Given the description of an element on the screen output the (x, y) to click on. 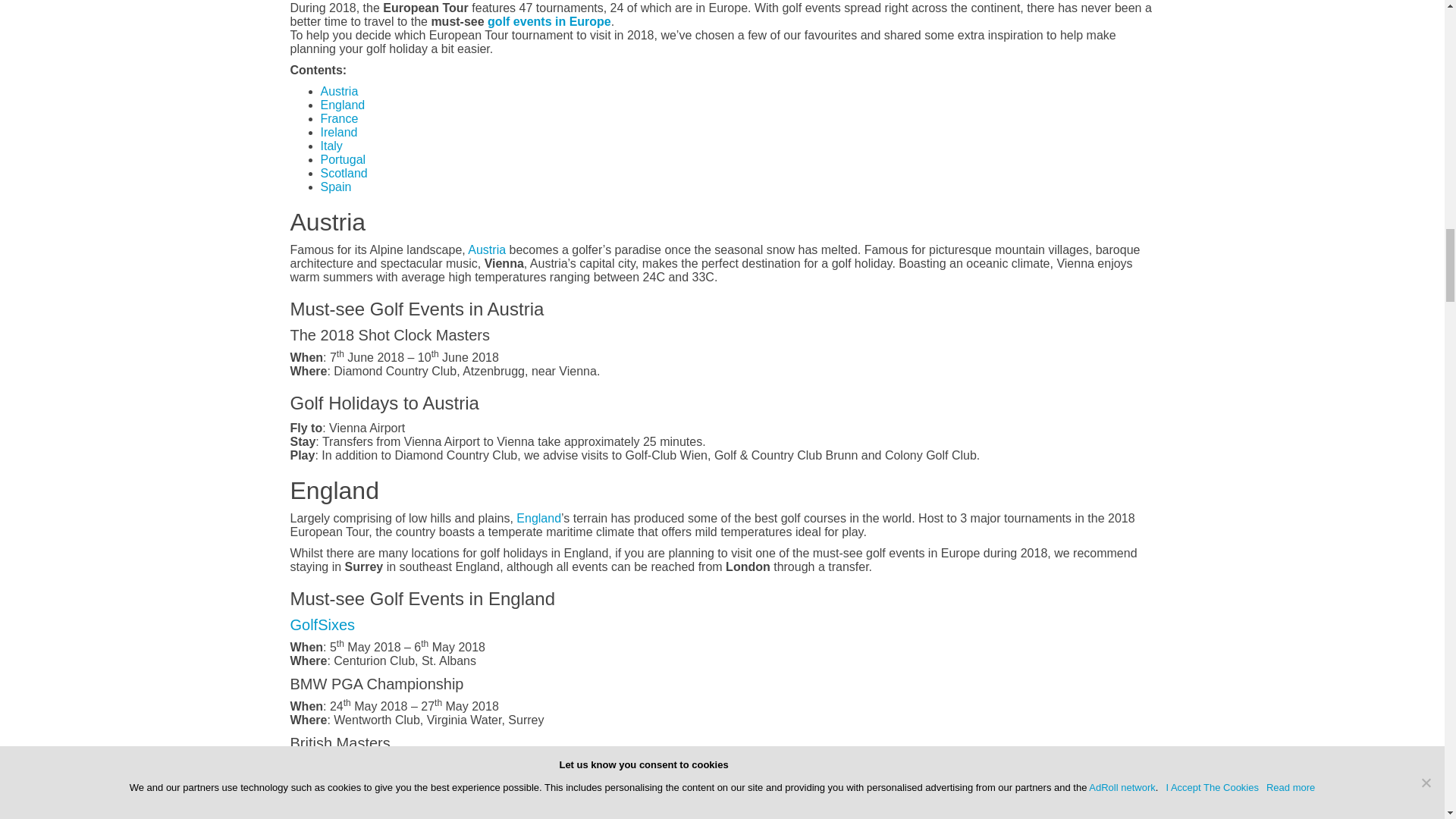
England (342, 104)
golf events in Europe (549, 21)
France (339, 118)
Austria (339, 91)
